Given the description of an element on the screen output the (x, y) to click on. 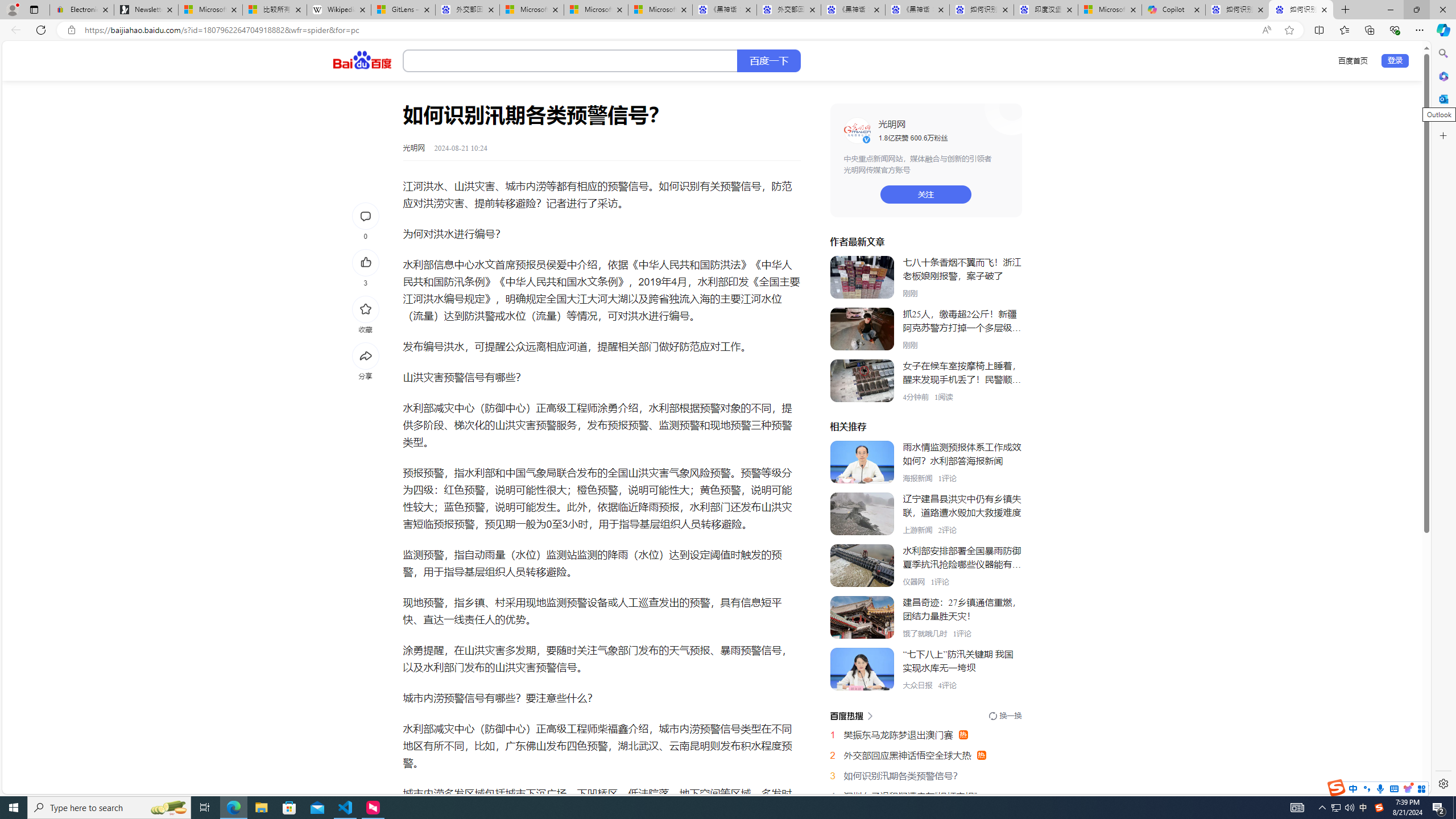
Wikipedia (338, 9)
Newsletter Sign Up (146, 9)
To get missing image descriptions, open the context menu. (856, 130)
